Given the description of an element on the screen output the (x, y) to click on. 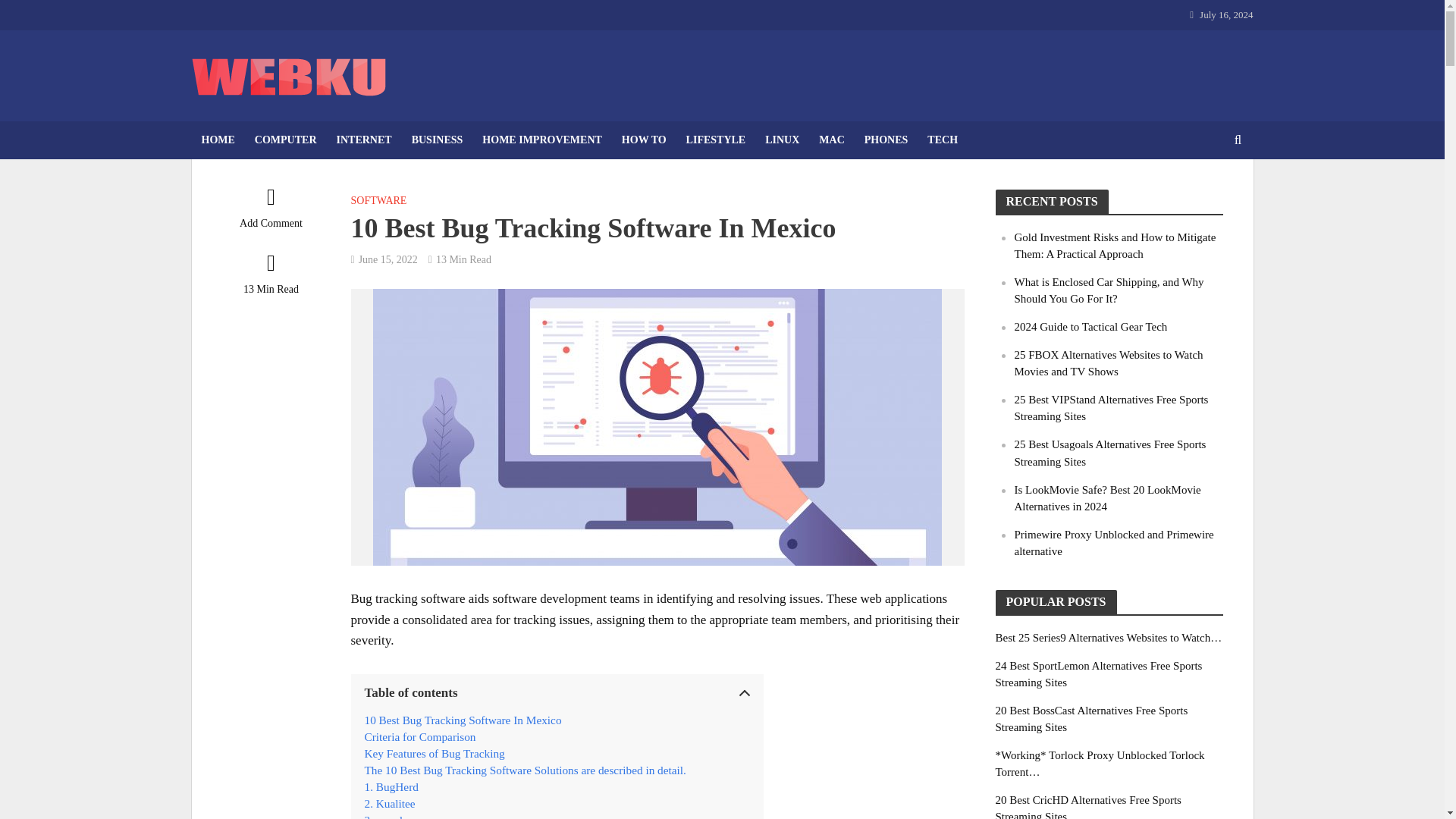
LIFESTYLE (716, 139)
LINUX (782, 139)
2. Kualitee (389, 803)
SOFTWARE (378, 202)
HOW TO (644, 139)
10 Best Bug Tracking Software In Mexico (462, 720)
Key Features of Bug Tracking (433, 753)
Add Comment (270, 210)
1. BugHerd (390, 786)
Key Features of Bug Tracking (433, 753)
2. Kualitee (389, 803)
Criteria for Comparison (420, 736)
10 Best Bug Tracking Software In Mexico (462, 720)
PHONES (886, 139)
INTERNET (363, 139)
